Given the description of an element on the screen output the (x, y) to click on. 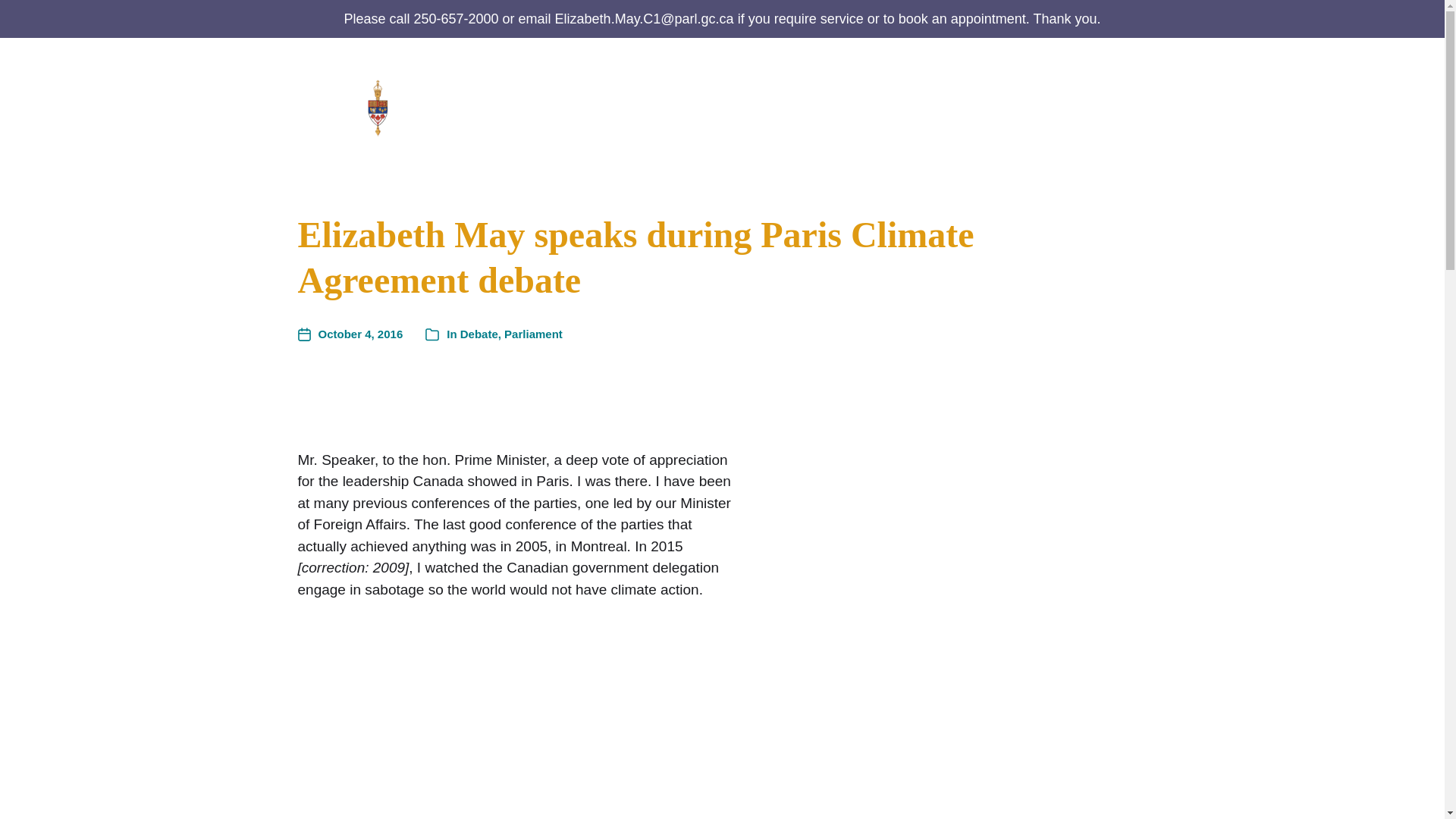
Issues (1028, 106)
FR (1137, 118)
EN (1136, 90)
About (638, 106)
Can We Help? (722, 106)
Parliament (936, 106)
Publications (844, 106)
